Given the description of an element on the screen output the (x, y) to click on. 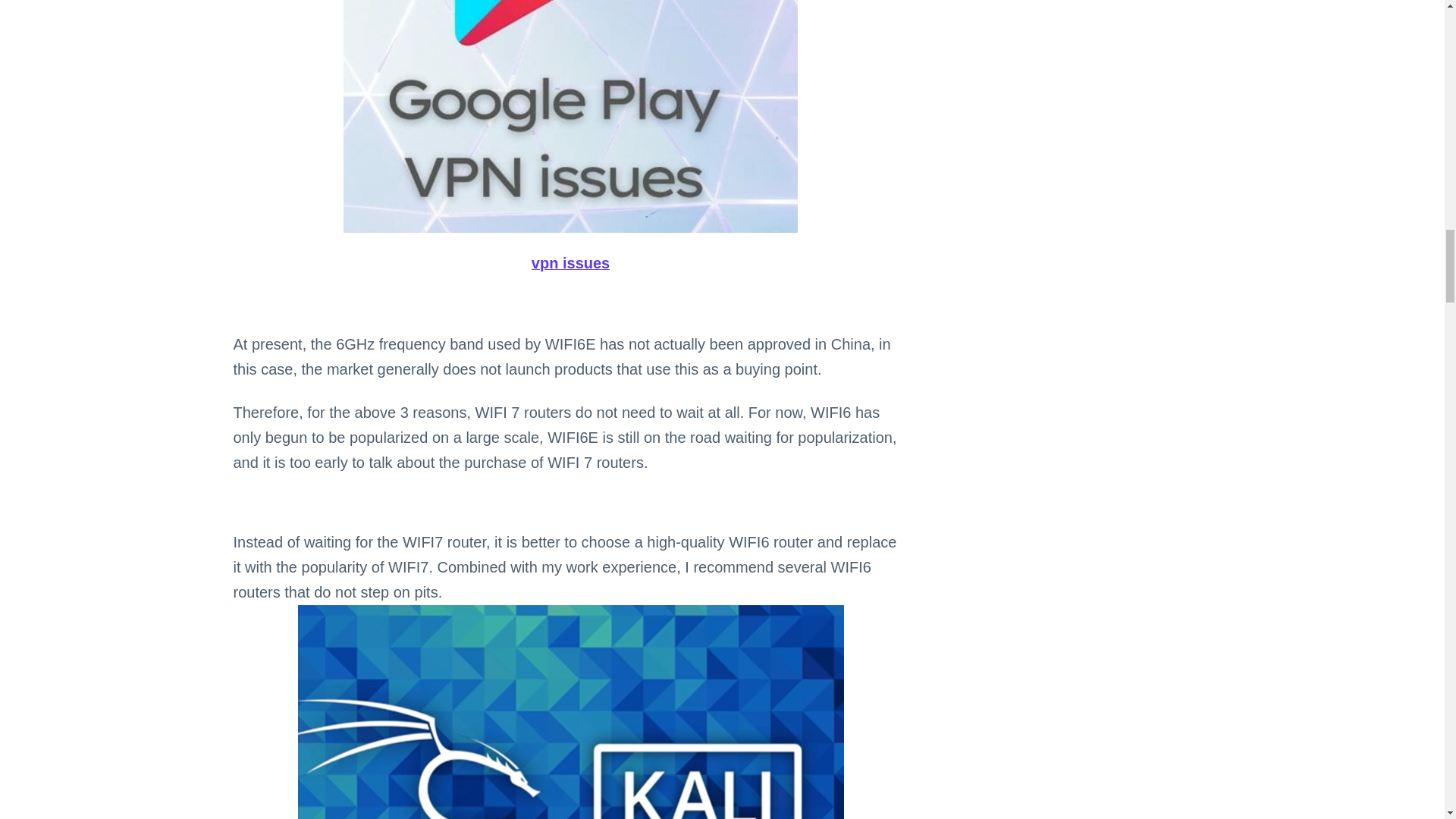
vpn issues (570, 264)
vpn issues (570, 116)
